Given the description of an element on the screen output the (x, y) to click on. 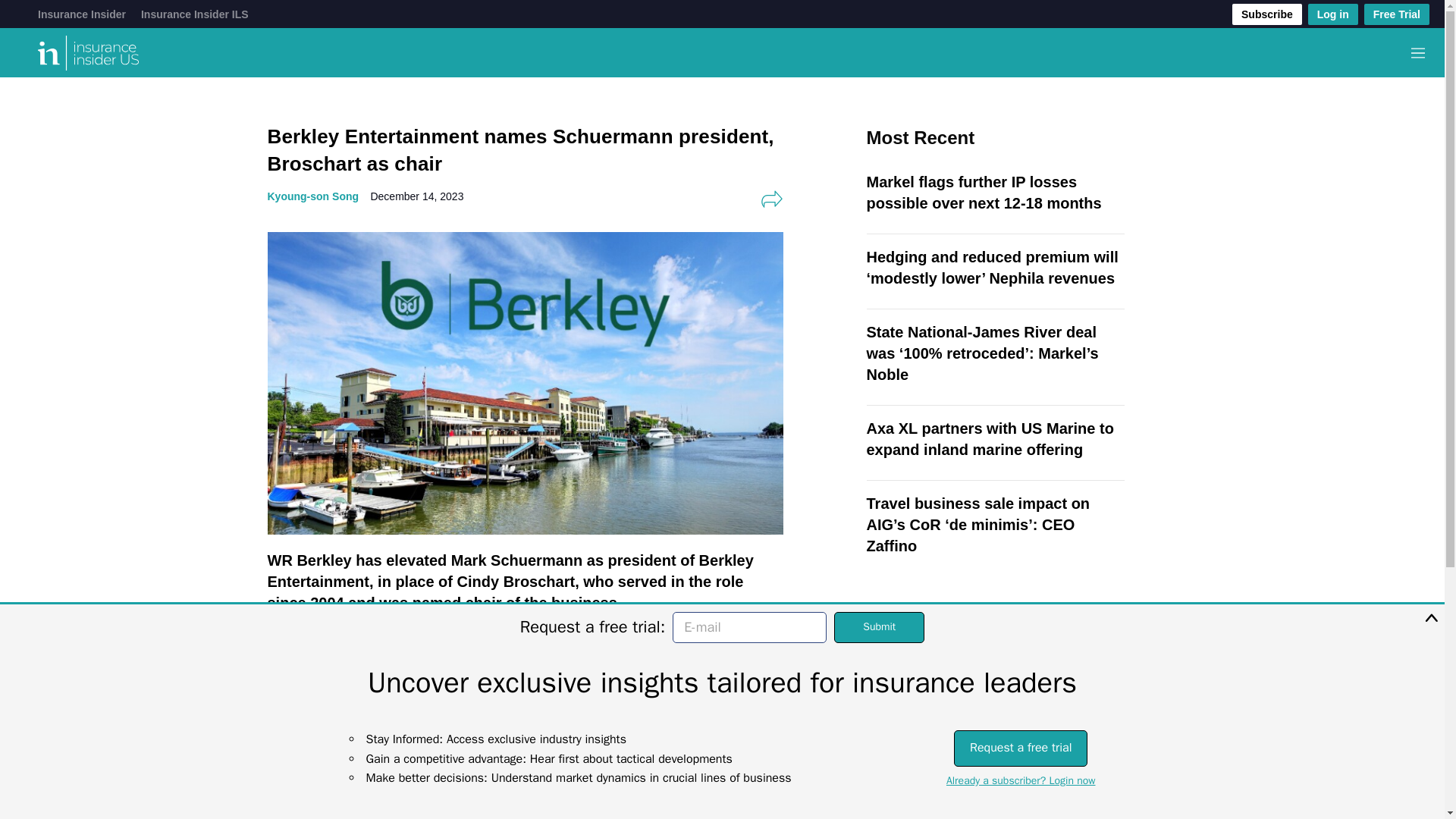
Subscribe (1266, 13)
Insurance Insider ILS (194, 13)
Free Trial (1396, 13)
Log in (1332, 13)
Submit (879, 626)
Insurance Insider (81, 13)
Share (771, 199)
